Given the description of an element on the screen output the (x, y) to click on. 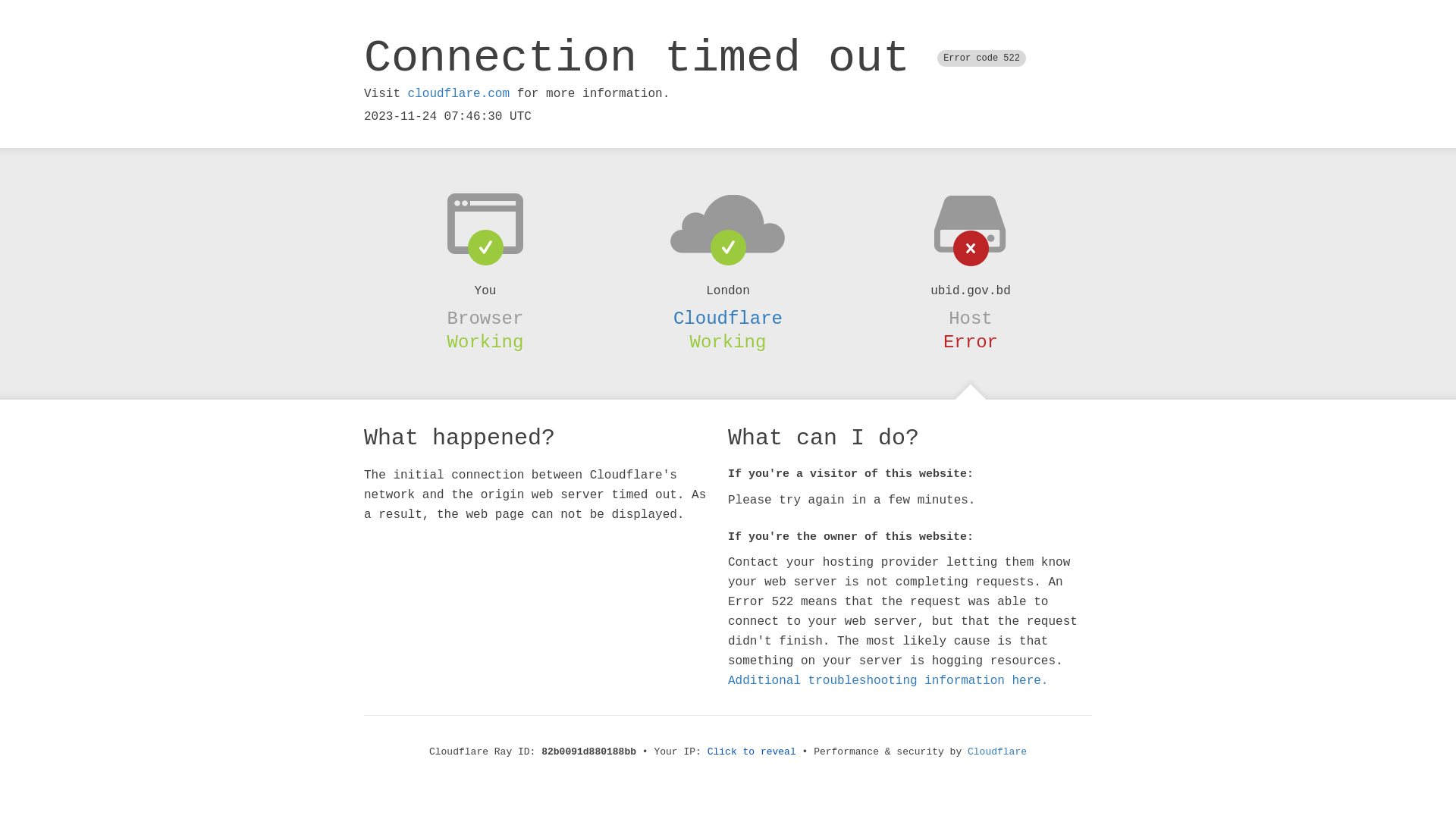
Additional troubleshooting information here. Element type: text (888, 680)
Click to reveal Element type: text (751, 751)
cloudflare.com Element type: text (458, 93)
Cloudflare Element type: text (727, 318)
Cloudflare Element type: text (996, 751)
